Given the description of an element on the screen output the (x, y) to click on. 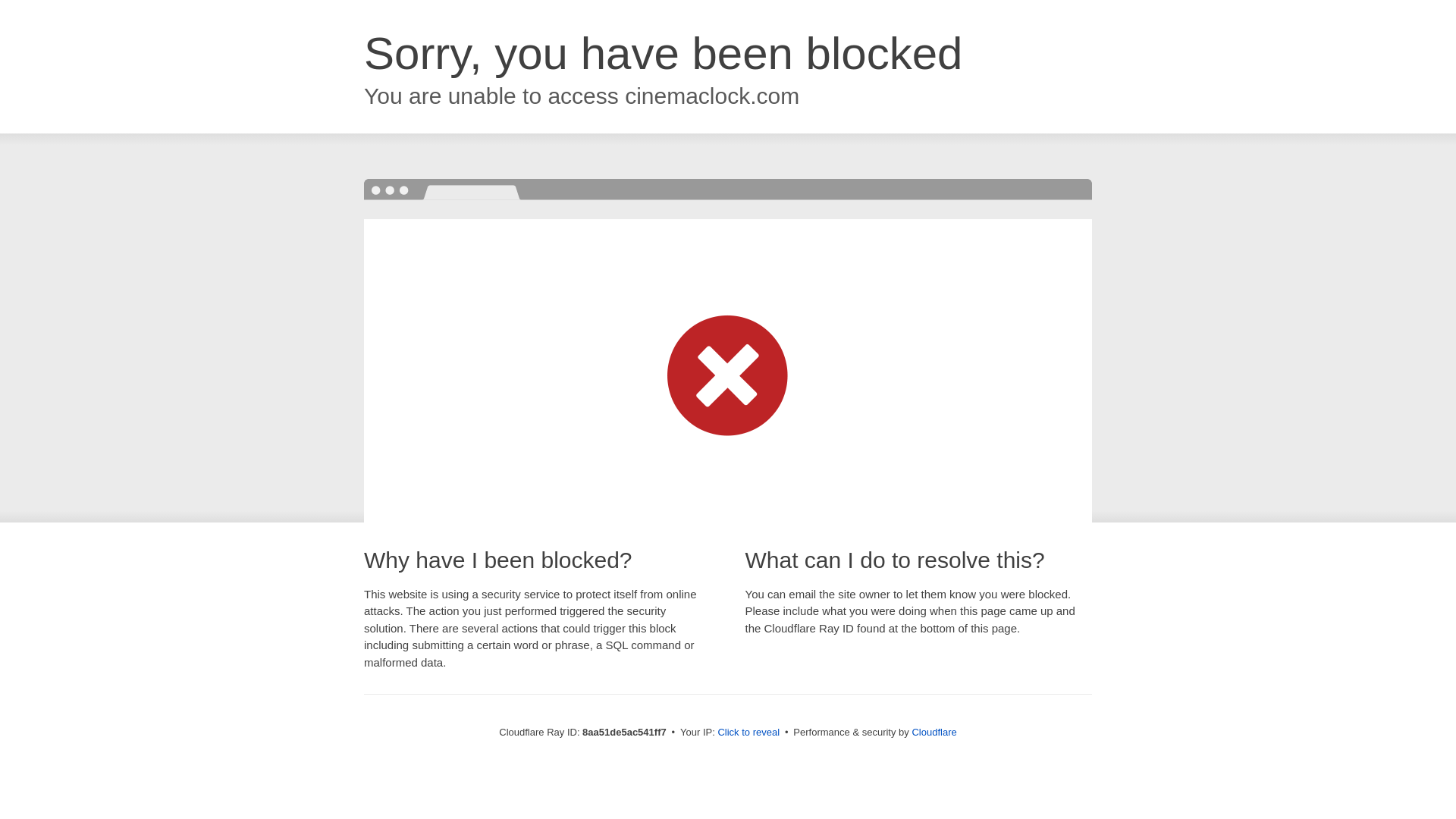
Cloudflare (933, 731)
Click to reveal (747, 732)
